Given the description of an element on the screen output the (x, y) to click on. 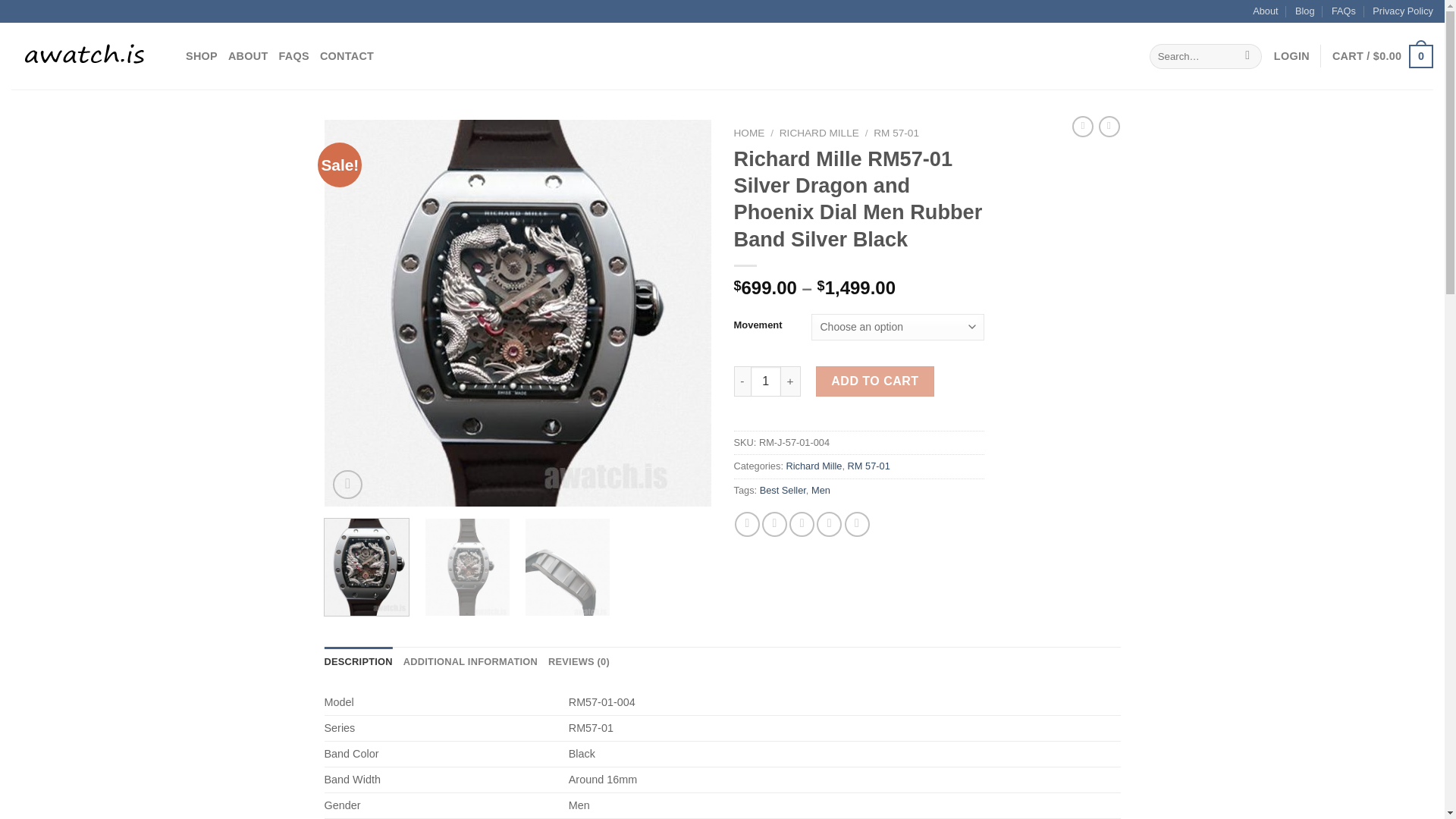
FAQS (293, 55)
Pin on Pinterest (828, 524)
RM 57-01 (868, 465)
RM 57-01 (895, 132)
ADD TO CART (874, 381)
Zoom (347, 484)
1 (765, 381)
Email to a Friend (801, 524)
Men (819, 490)
CONTACT (347, 55)
Privacy Policy (1402, 11)
Qty (765, 381)
ABOUT (247, 55)
Share on Twitter (774, 524)
